Given the description of an element on the screen output the (x, y) to click on. 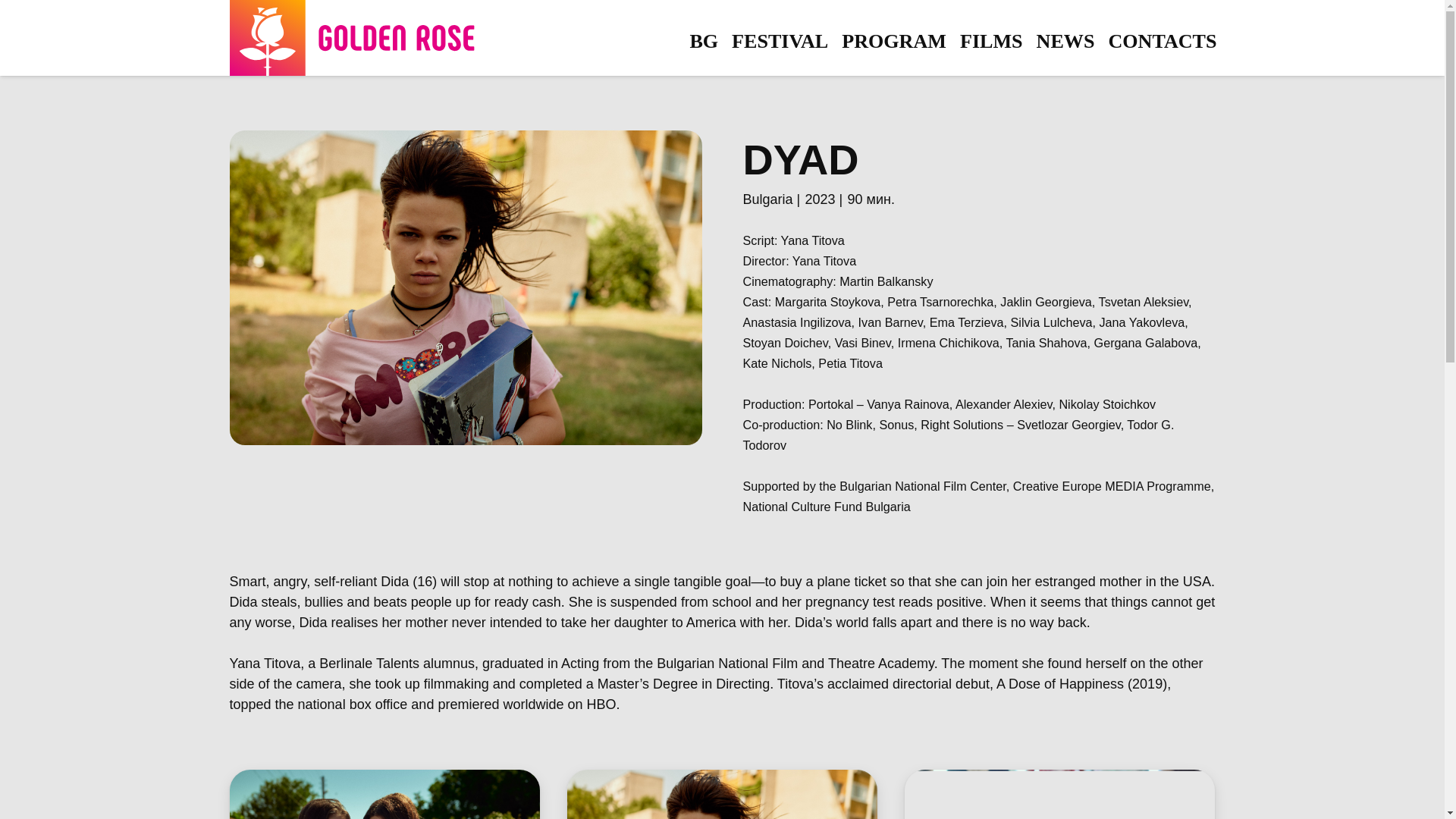
FESTIVAL (779, 41)
FILMS (991, 41)
BG (703, 41)
BG (703, 41)
NEWS (1065, 41)
CONTACTS (1161, 41)
PROGRAM (893, 41)
